Given the description of an element on the screen output the (x, y) to click on. 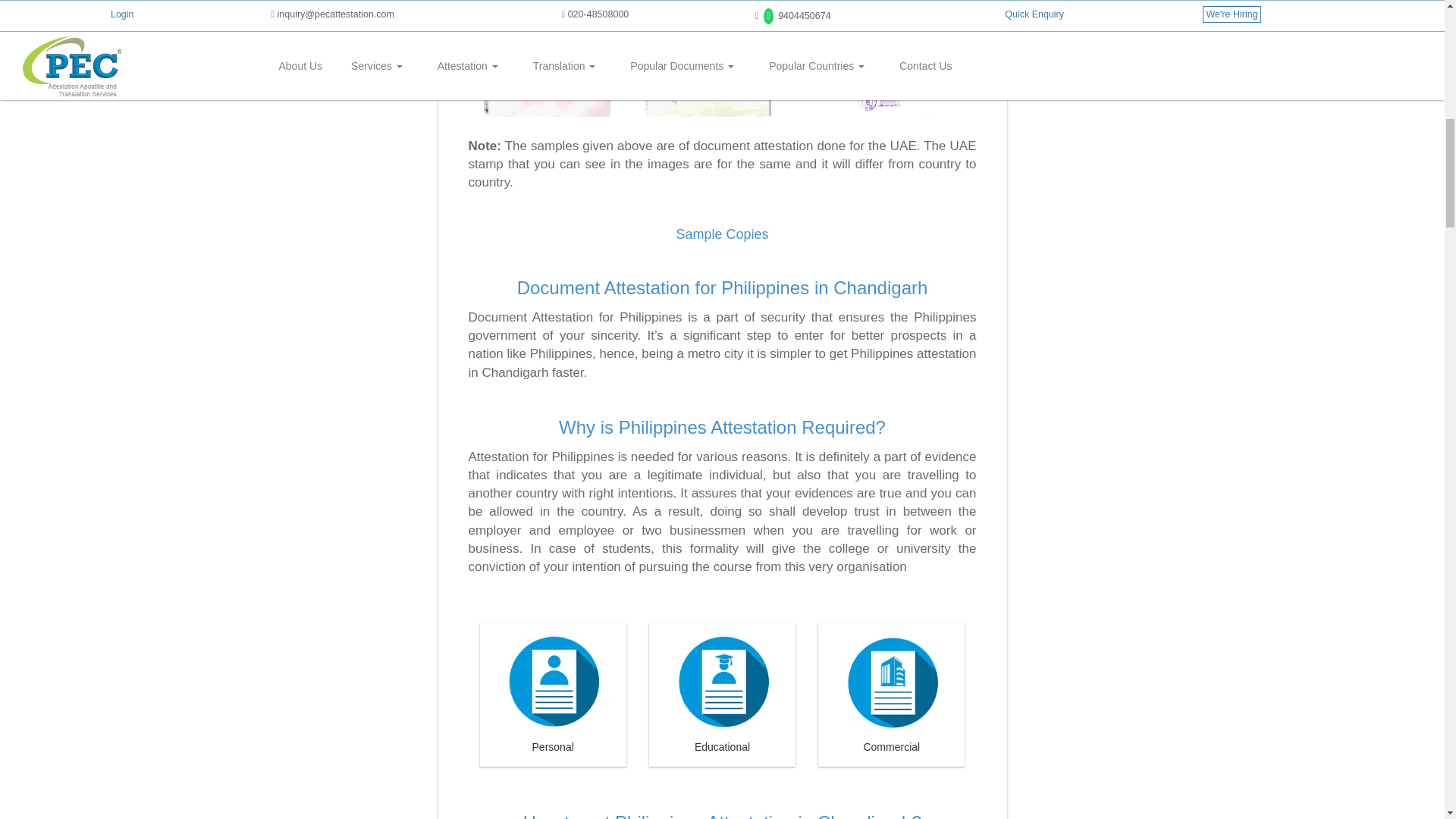
Commercial Document Attestation for UAE (867, 60)
Personal Document Attestation for UAE (547, 58)
Educational Certificate Attestation (707, 58)
